Given the description of an element on the screen output the (x, y) to click on. 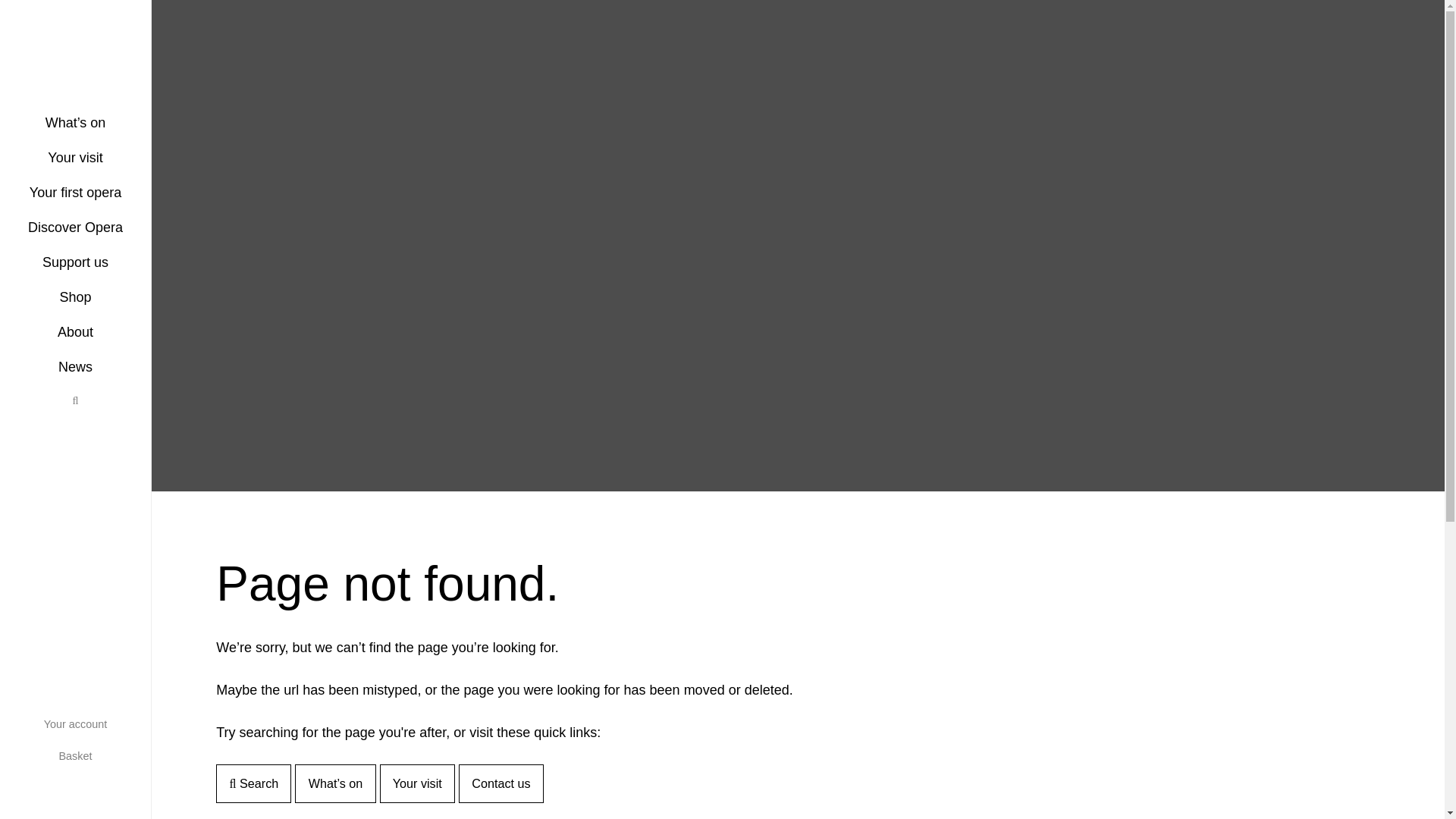
Find out more (17, 462)
Your account (75, 724)
Book now (17, 260)
The Turn of the Screw (16, 505)
Search (75, 399)
Find out more (17, 302)
Book now (17, 580)
Discover Opera (75, 226)
Find out more (17, 783)
Basket (75, 756)
